Given the description of an element on the screen output the (x, y) to click on. 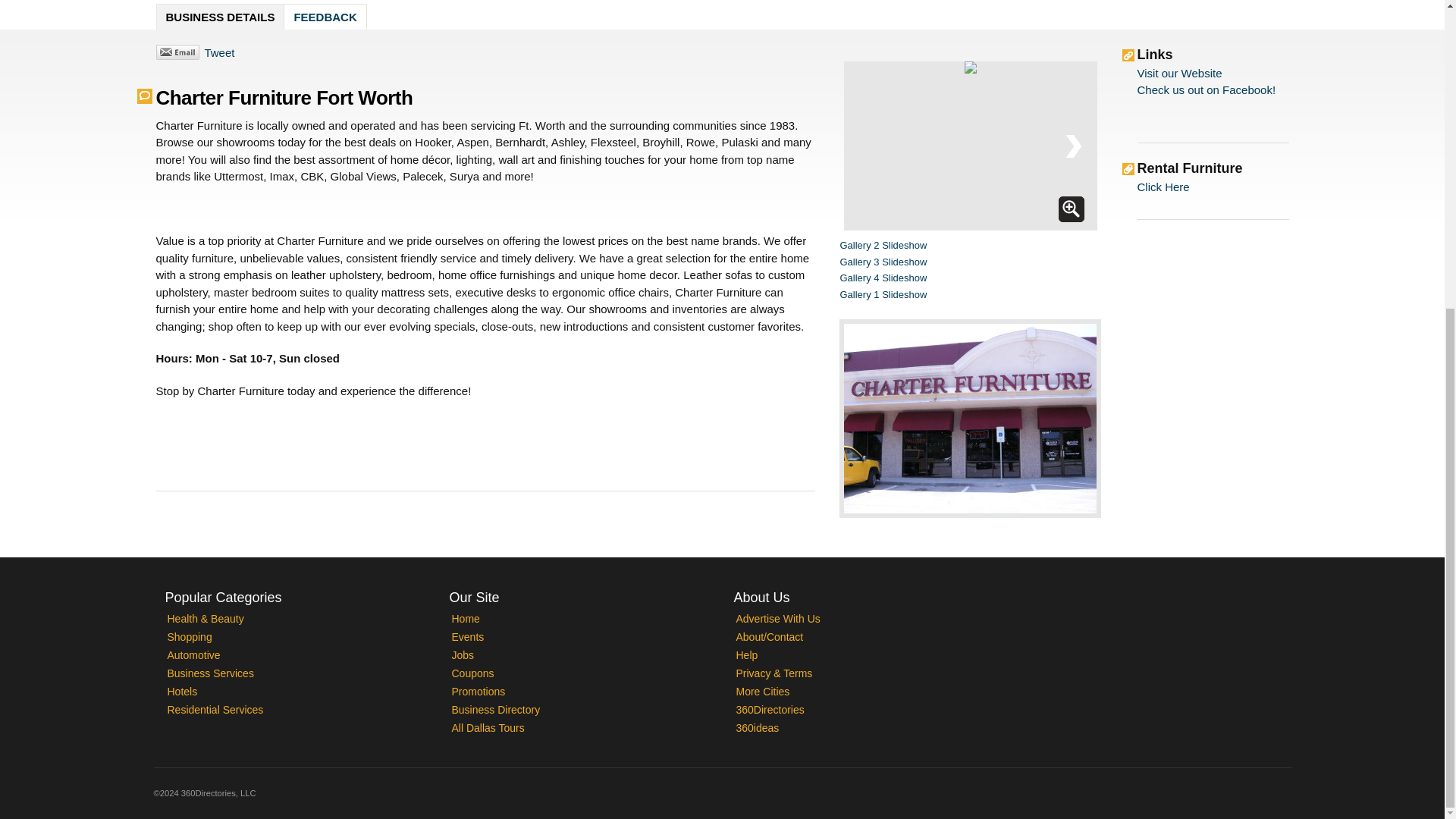
Gallery 4 Slideshow (883, 277)
BUSINESS DETAILS (219, 16)
Check us out on Facebook! (1206, 89)
View Full Image (1071, 208)
Click Here (1163, 186)
Gallery 1 Slideshow (883, 294)
Tweet (218, 51)
Shopping (189, 636)
Hotels (181, 691)
Visit our Website (1180, 72)
Gallery 3 Slideshow (883, 261)
Business Services (210, 673)
Gallery 2 Slideshow (883, 244)
Automotive (193, 654)
FEEDBACK (324, 16)
